Given the description of an element on the screen output the (x, y) to click on. 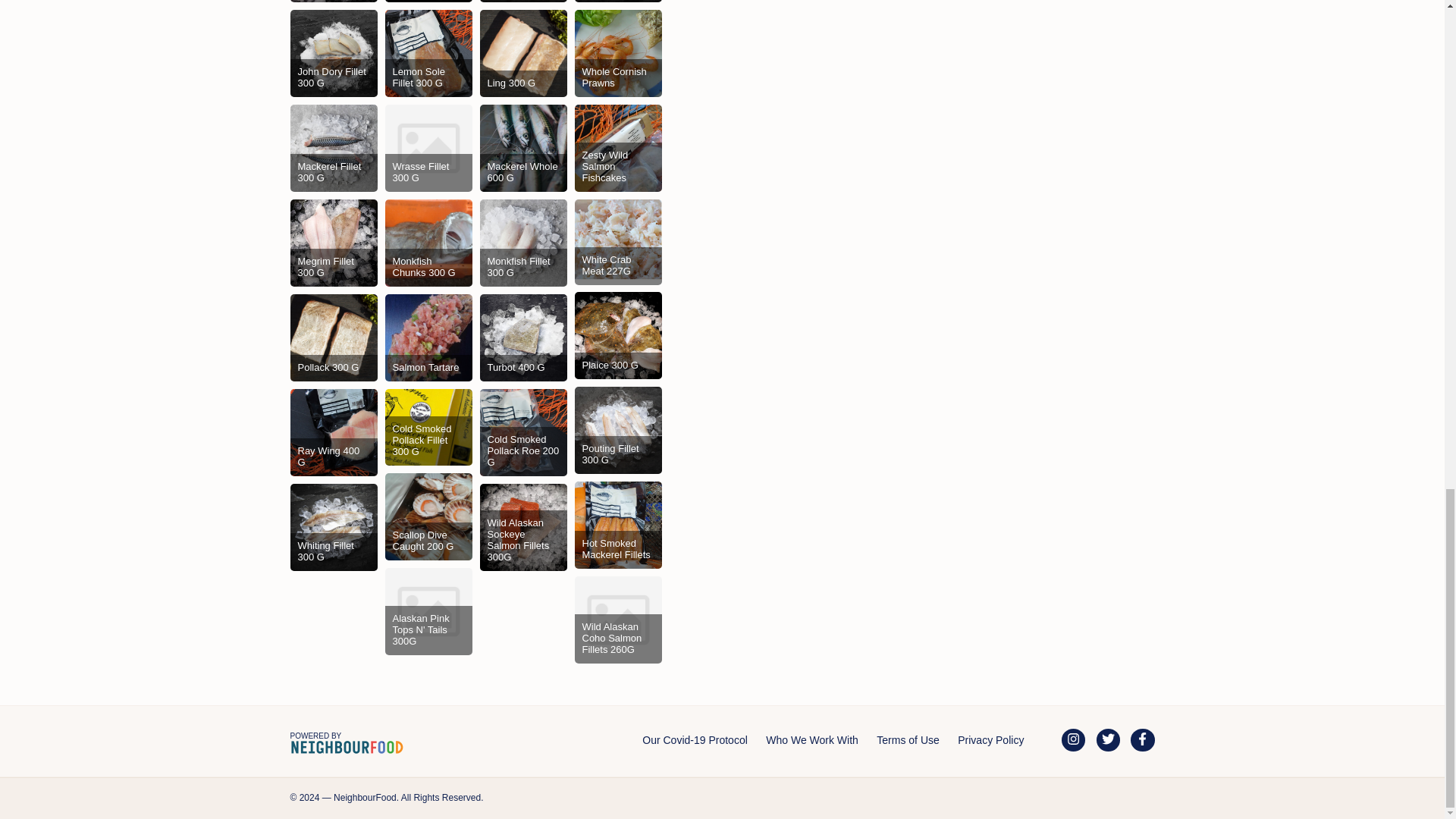
Whole Cornish Prawns (618, 53)
Gurnard Fillets 300 G (522, 1)
Lemon Sole Fillet 300 G (428, 53)
Mackerel Fillet 300 G (333, 147)
Flounder Fillet 300G (333, 1)
Ling 300 G (522, 53)
Grey Mullet 300 G (428, 1)
Hake 300G (618, 1)
John Dory Fillet 300 G (333, 53)
Wrasse Fillet 300 G (428, 147)
